Given the description of an element on the screen output the (x, y) to click on. 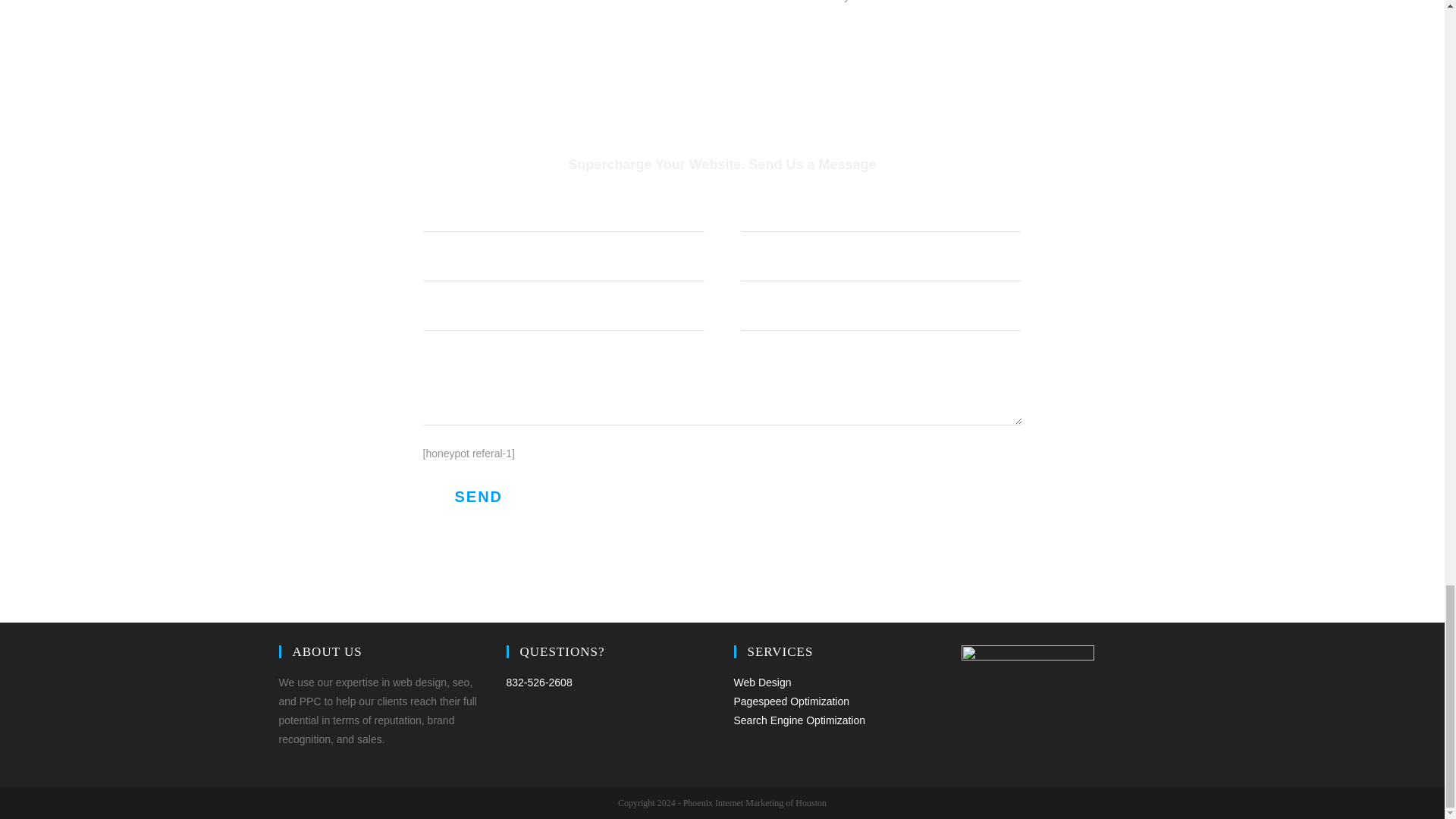
Search Engine Optimization (799, 720)
Pagespeed Optimization (791, 701)
Send (479, 496)
Send (479, 496)
Web Design (762, 682)
832-526-2608 (539, 682)
